Given the description of an element on the screen output the (x, y) to click on. 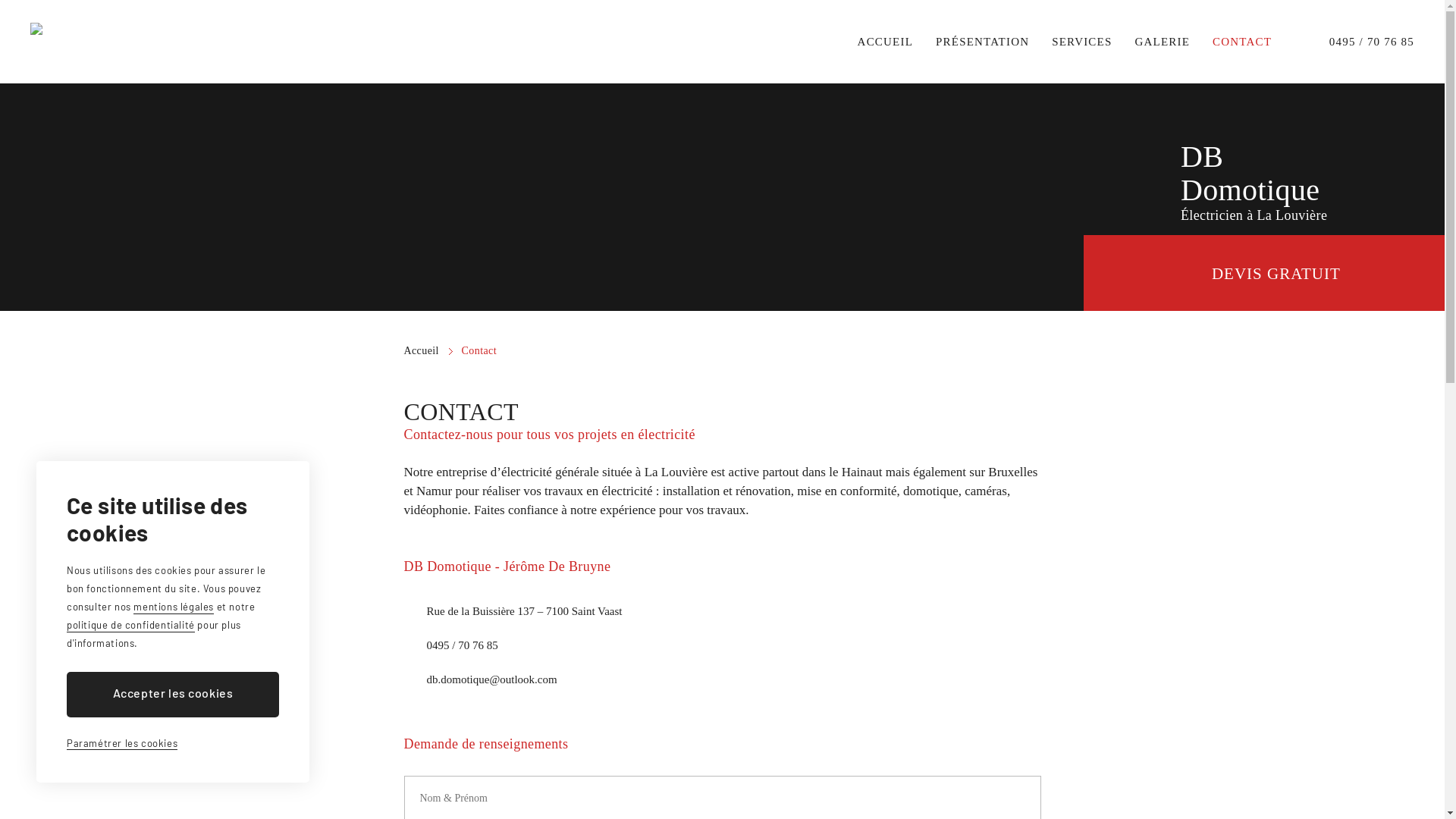
SERVICES Element type: text (1081, 41)
CONTACT Element type: text (1241, 41)
ACCUEIL Element type: text (885, 41)
GALERIE Element type: text (1161, 41)
0495 / 70 76 85 Element type: text (461, 645)
0495 / 70 76 85 Element type: text (1359, 41)
db.domotique@outlook.com Element type: text (491, 679)
Contact Element type: text (478, 350)
Accueil Element type: text (427, 350)
DB Domotique Element type: hover (94, 28)
DEVIS GRATUIT Element type: text (1263, 272)
